Given the description of an element on the screen output the (x, y) to click on. 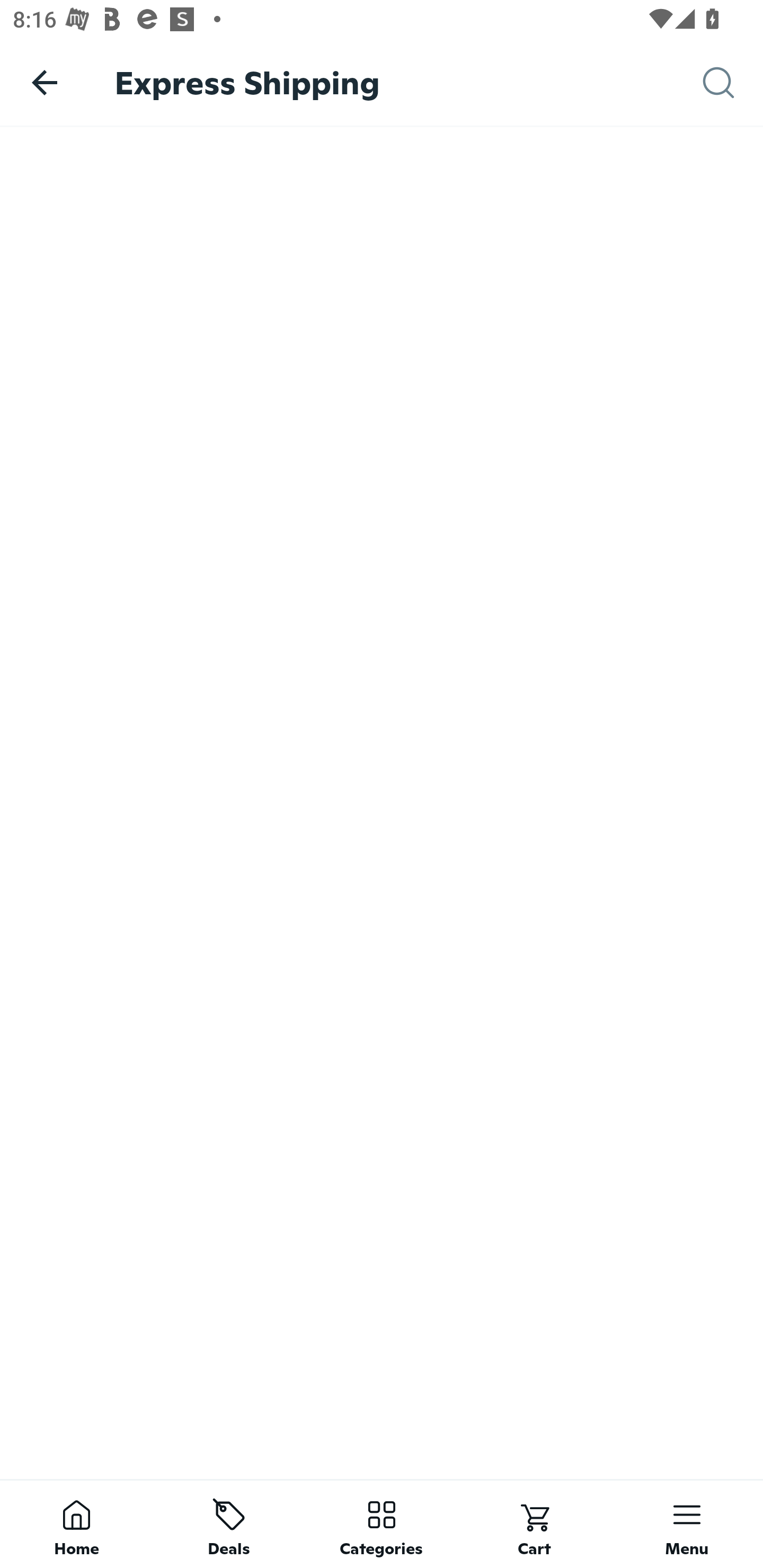
Navigate up (44, 82)
Search (732, 82)
Home (76, 1523)
Deals (228, 1523)
Categories (381, 1523)
Cart (533, 1523)
Menu (686, 1523)
